Given the description of an element on the screen output the (x, y) to click on. 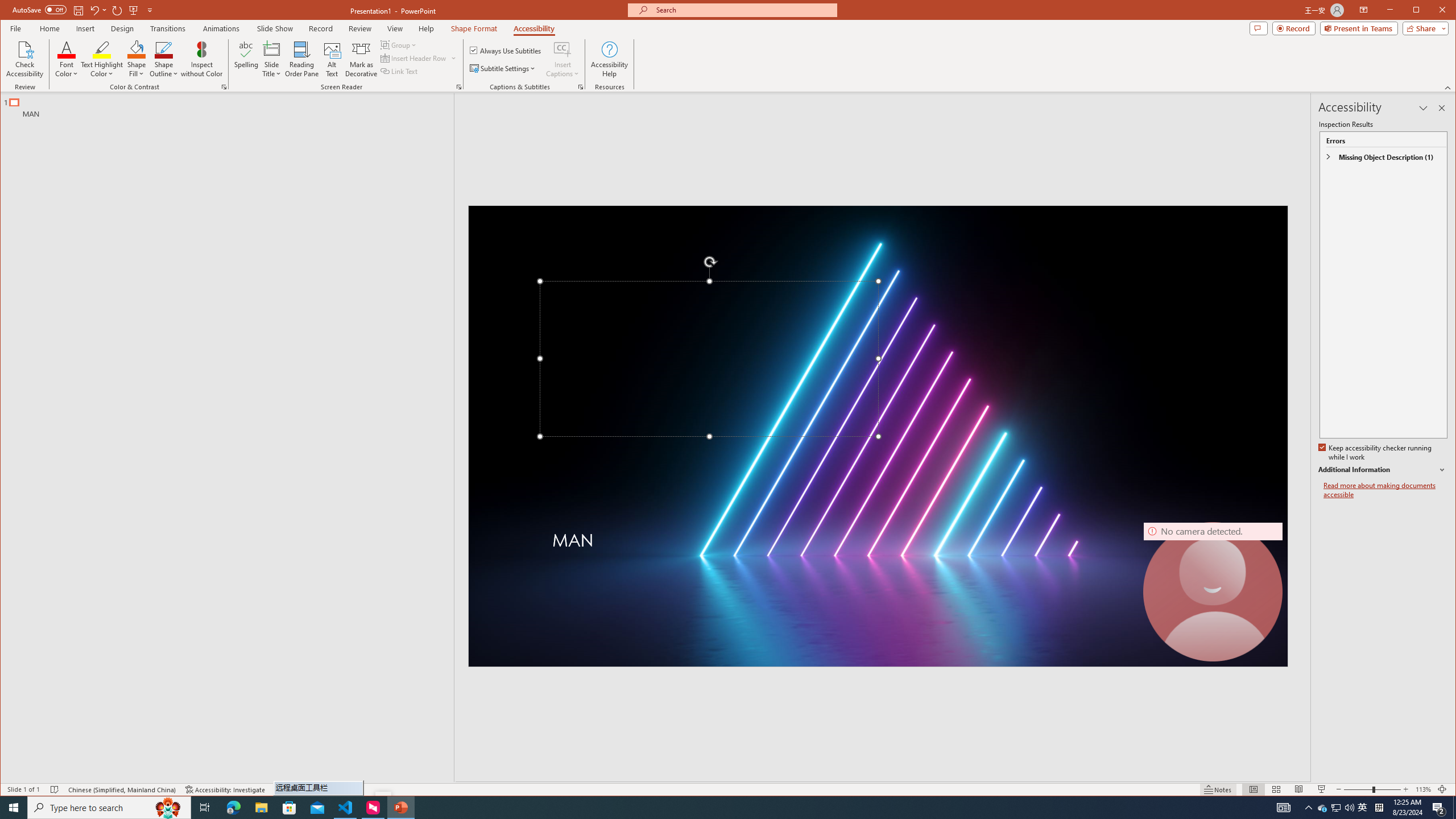
Zoom 113% (1422, 789)
Slide Title (271, 48)
